Given the description of an element on the screen output the (x, y) to click on. 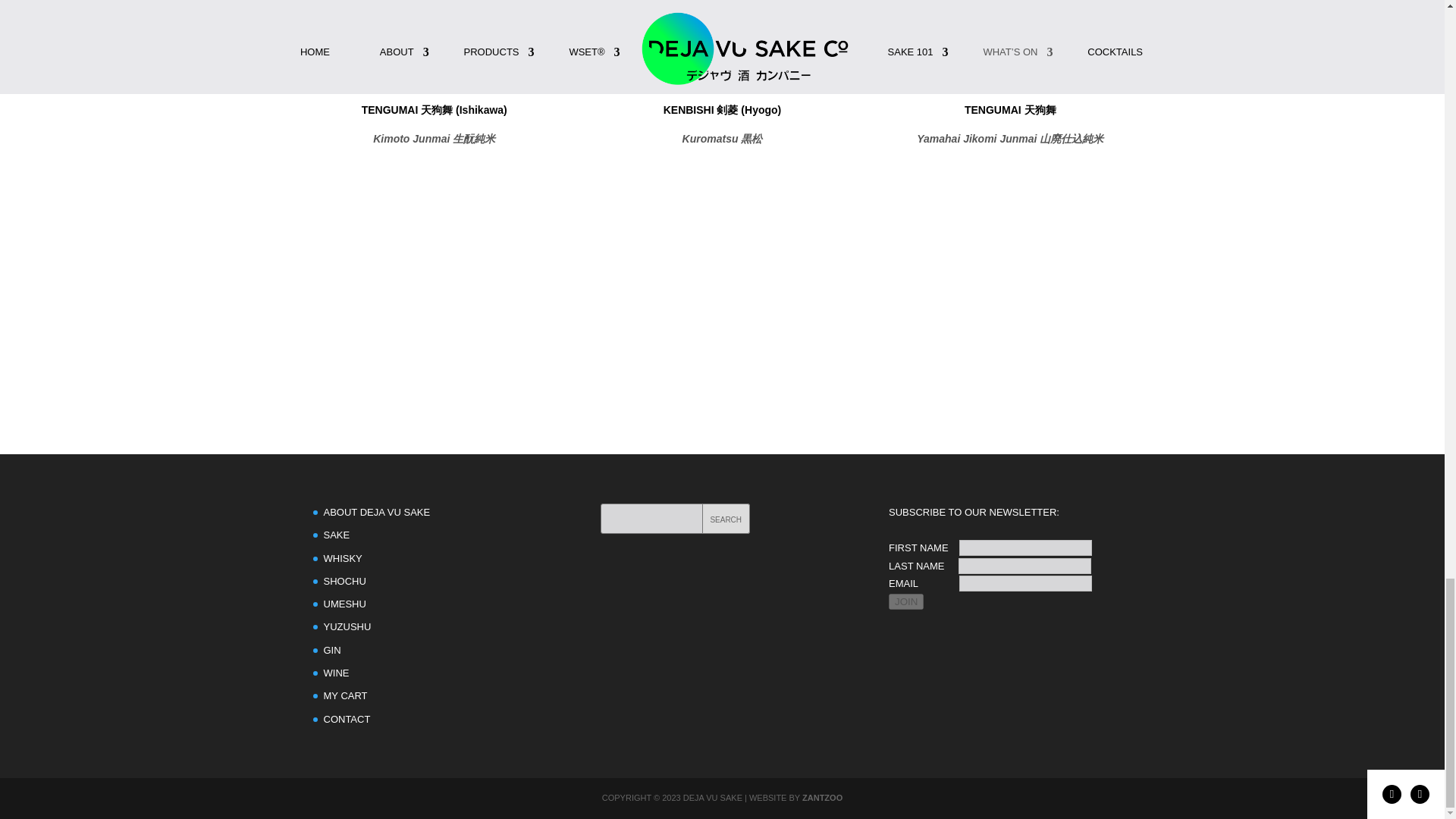
Tengumai Kimoto Junmai (433, 226)
Search (725, 518)
Kenbishi Kuromatsu (721, 226)
Tengumai Yamahai Jikomi Junmai (1010, 201)
